Given the description of an element on the screen output the (x, y) to click on. 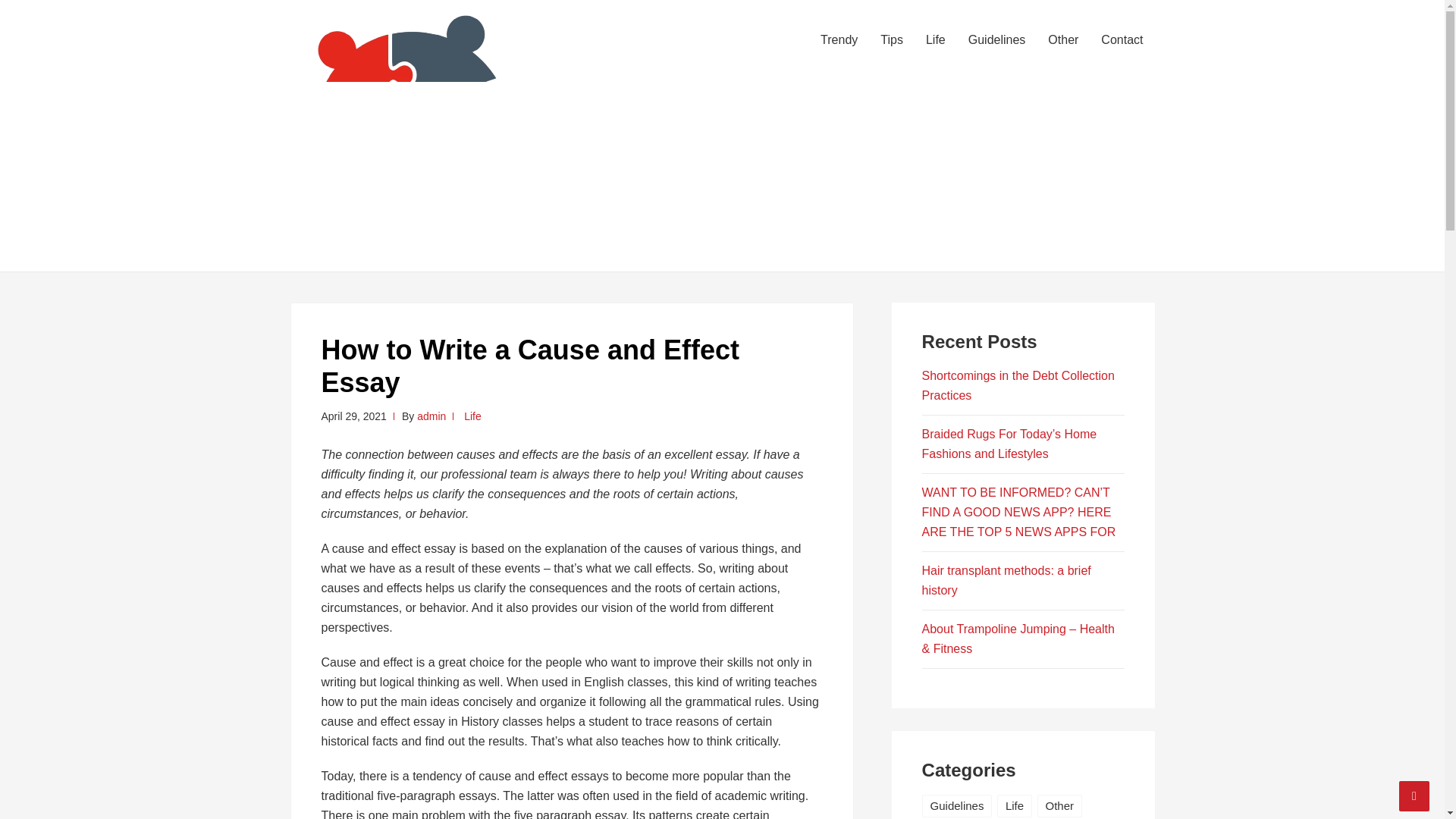
Contact (1121, 39)
Guidelines (956, 805)
Life (472, 416)
View all posts by admin (430, 416)
Hair transplant methods: a brief history (1005, 580)
admin (430, 416)
Shortcomings in the Debt Collection Practices (1018, 385)
Life (1014, 805)
Guidelines (996, 39)
Other (1059, 805)
Other (1062, 39)
Trendy (839, 39)
